Given the description of an element on the screen output the (x, y) to click on. 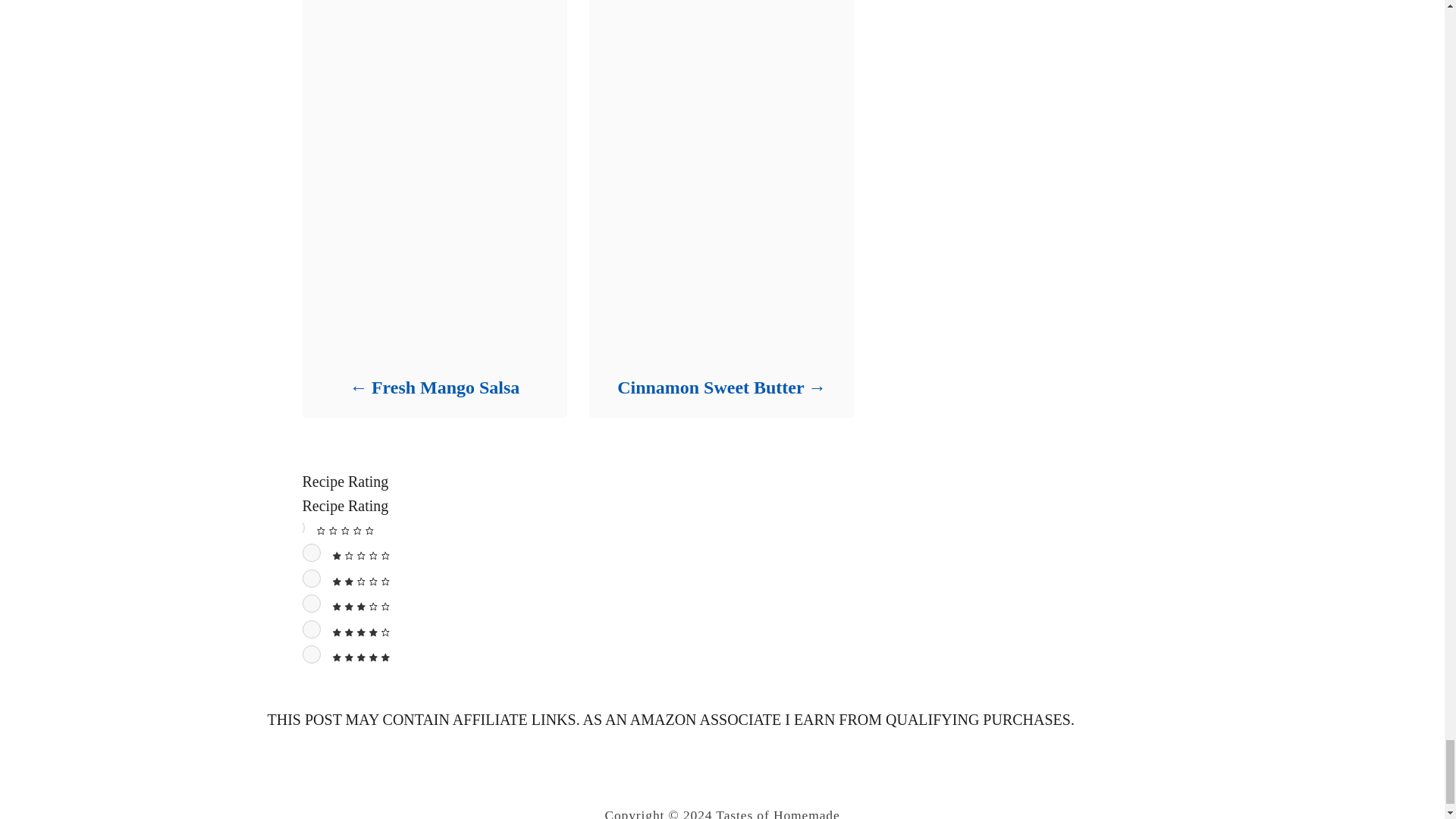
5 (310, 654)
4 (310, 628)
0 (295, 527)
2 (310, 578)
3 (310, 603)
1 (310, 552)
